Given the description of an element on the screen output the (x, y) to click on. 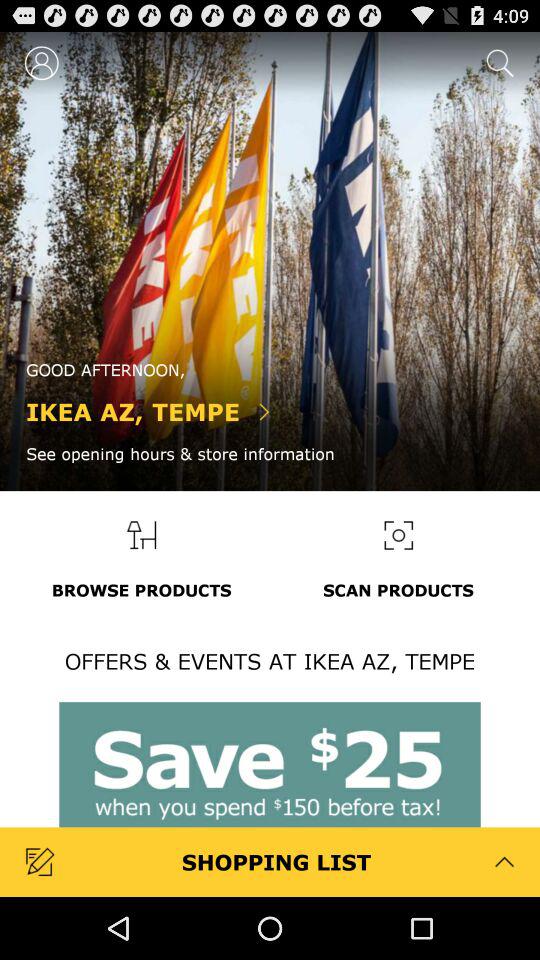
choose icon at the top right corner (497, 62)
